Given the description of an element on the screen output the (x, y) to click on. 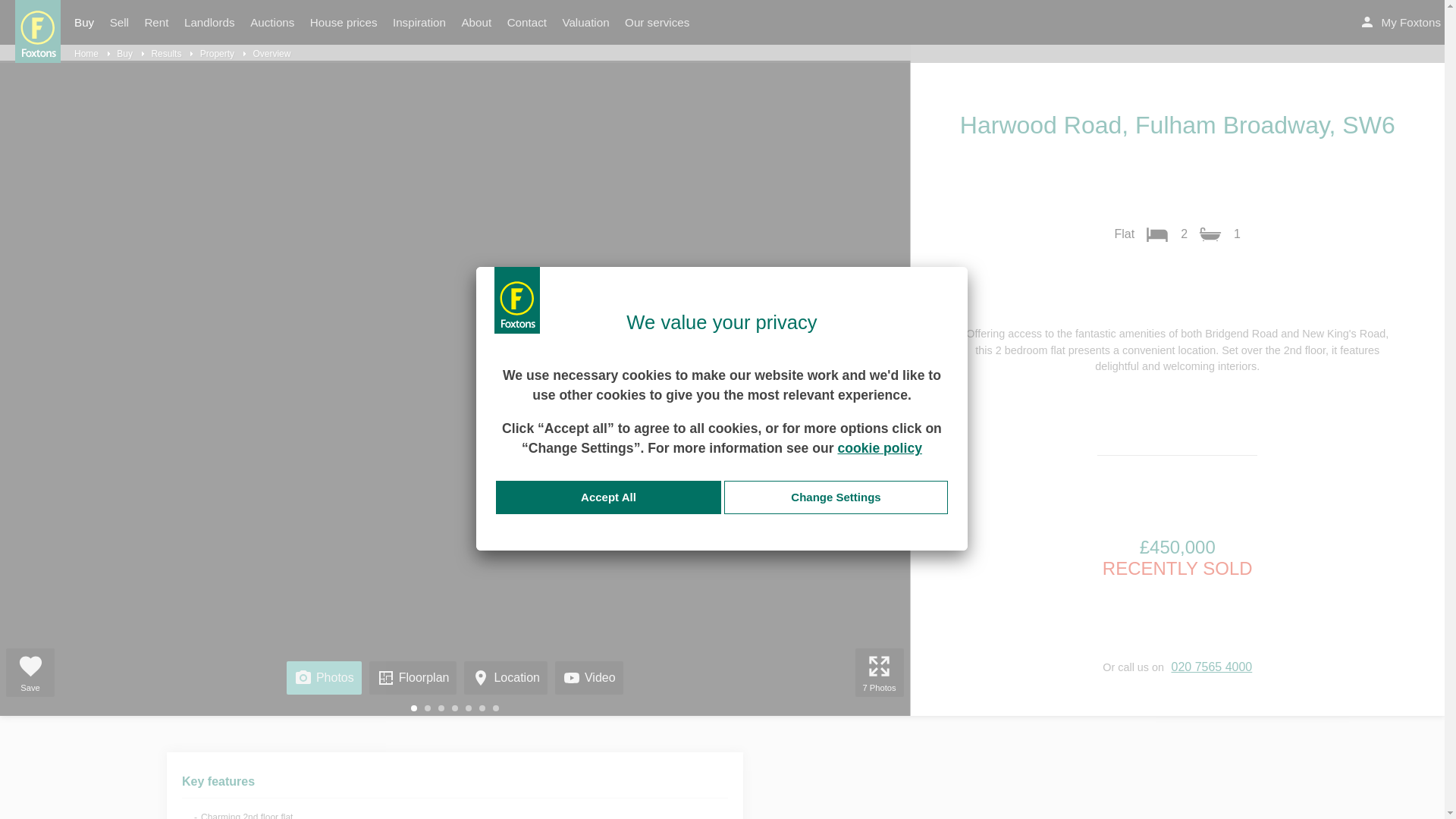
About (475, 22)
Results (171, 53)
Valuation (585, 22)
Property (223, 53)
Auctions (271, 22)
Landlords (209, 22)
My Foxtons (1401, 22)
Inspiration (419, 22)
Contact (526, 22)
Home (92, 53)
Our services (656, 22)
Buy (130, 53)
House prices (344, 22)
